Given the description of an element on the screen output the (x, y) to click on. 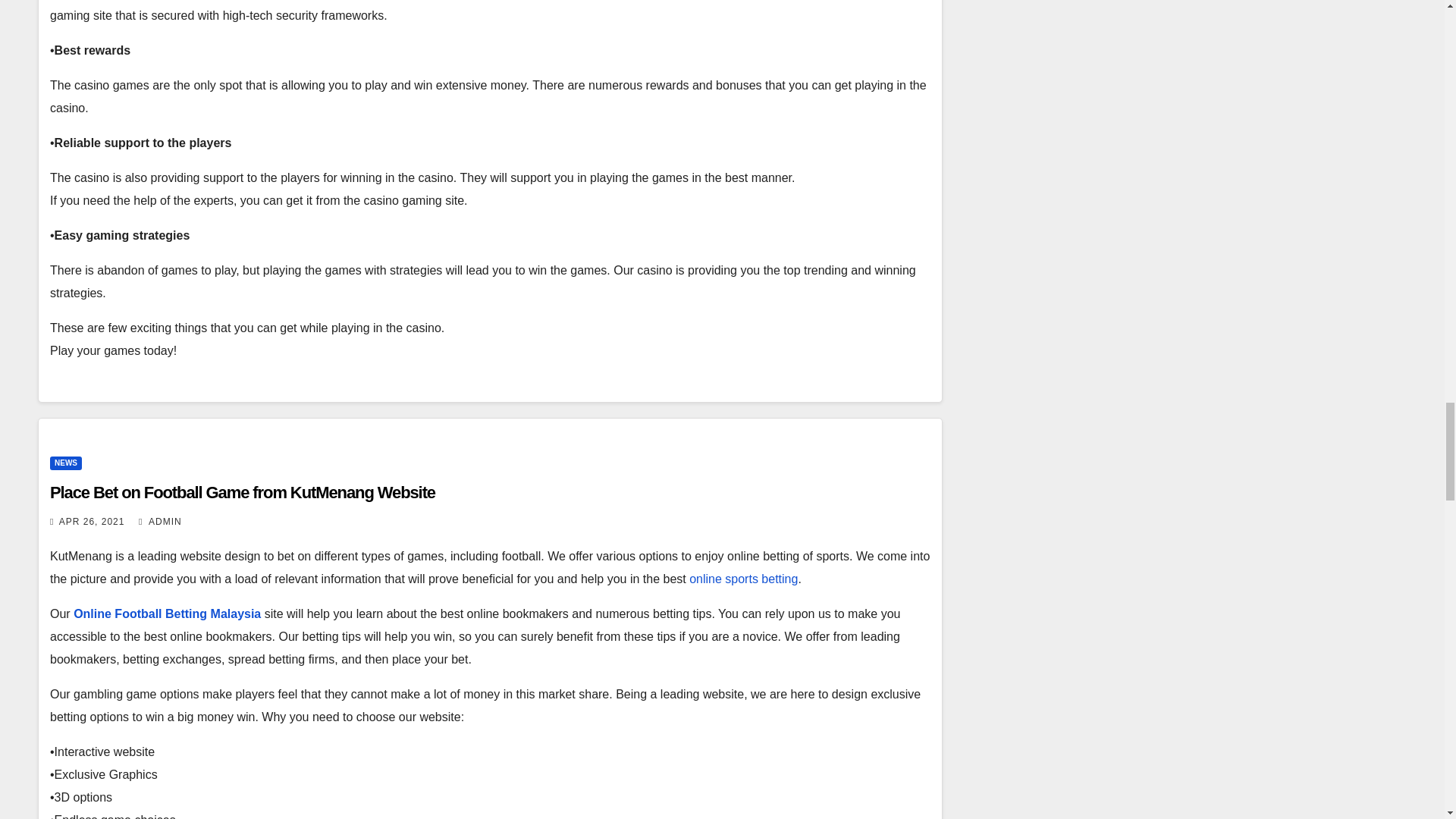
NEWS (65, 463)
